Given the description of an element on the screen output the (x, y) to click on. 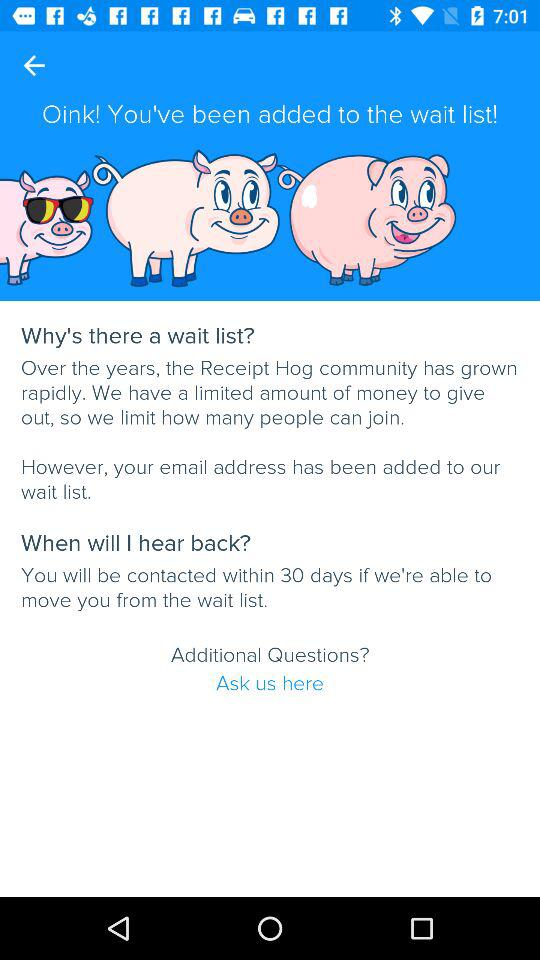
press the icon at the top left corner (33, 65)
